Given the description of an element on the screen output the (x, y) to click on. 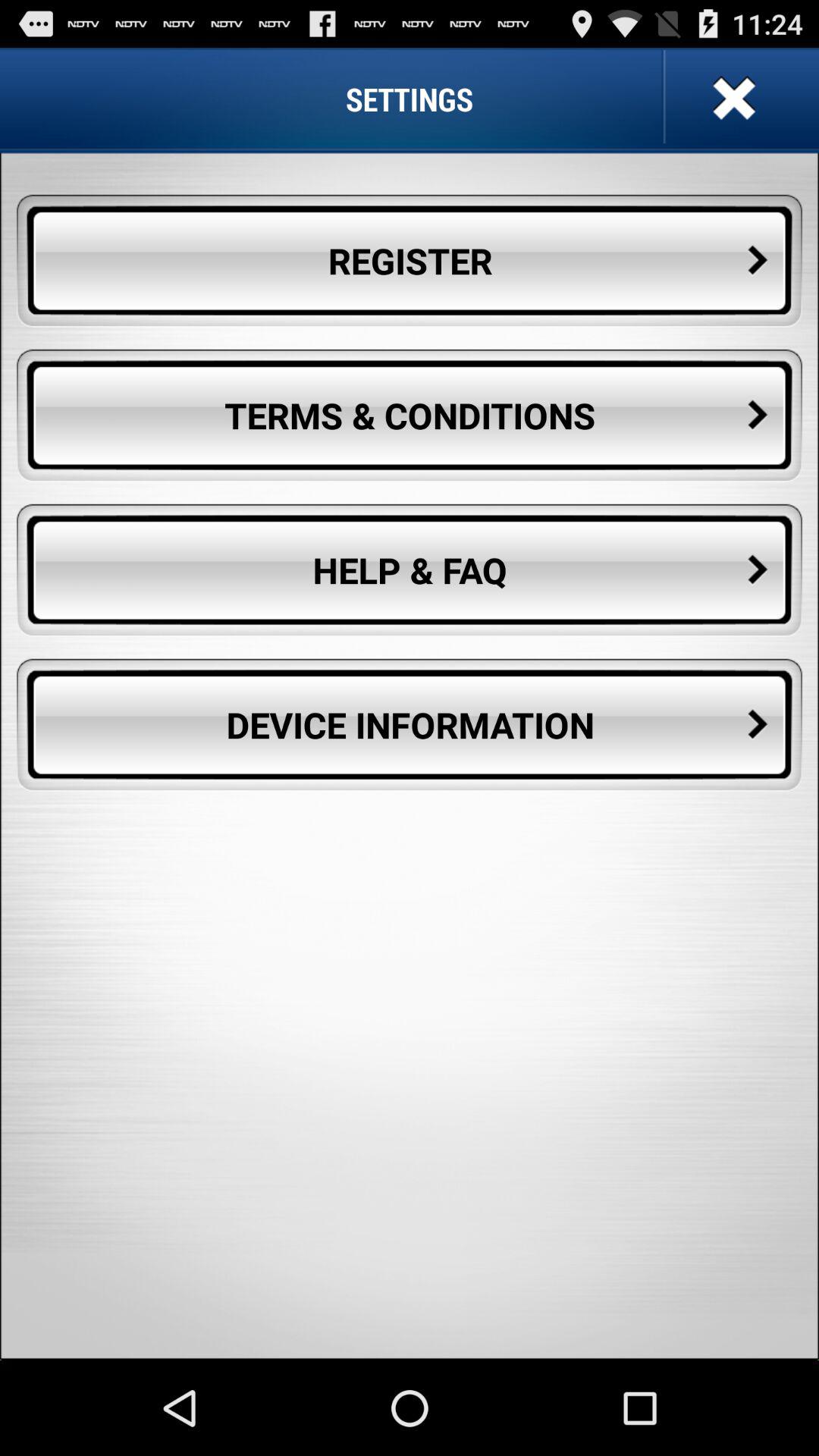
tap register button (409, 260)
